Given the description of an element on the screen output the (x, y) to click on. 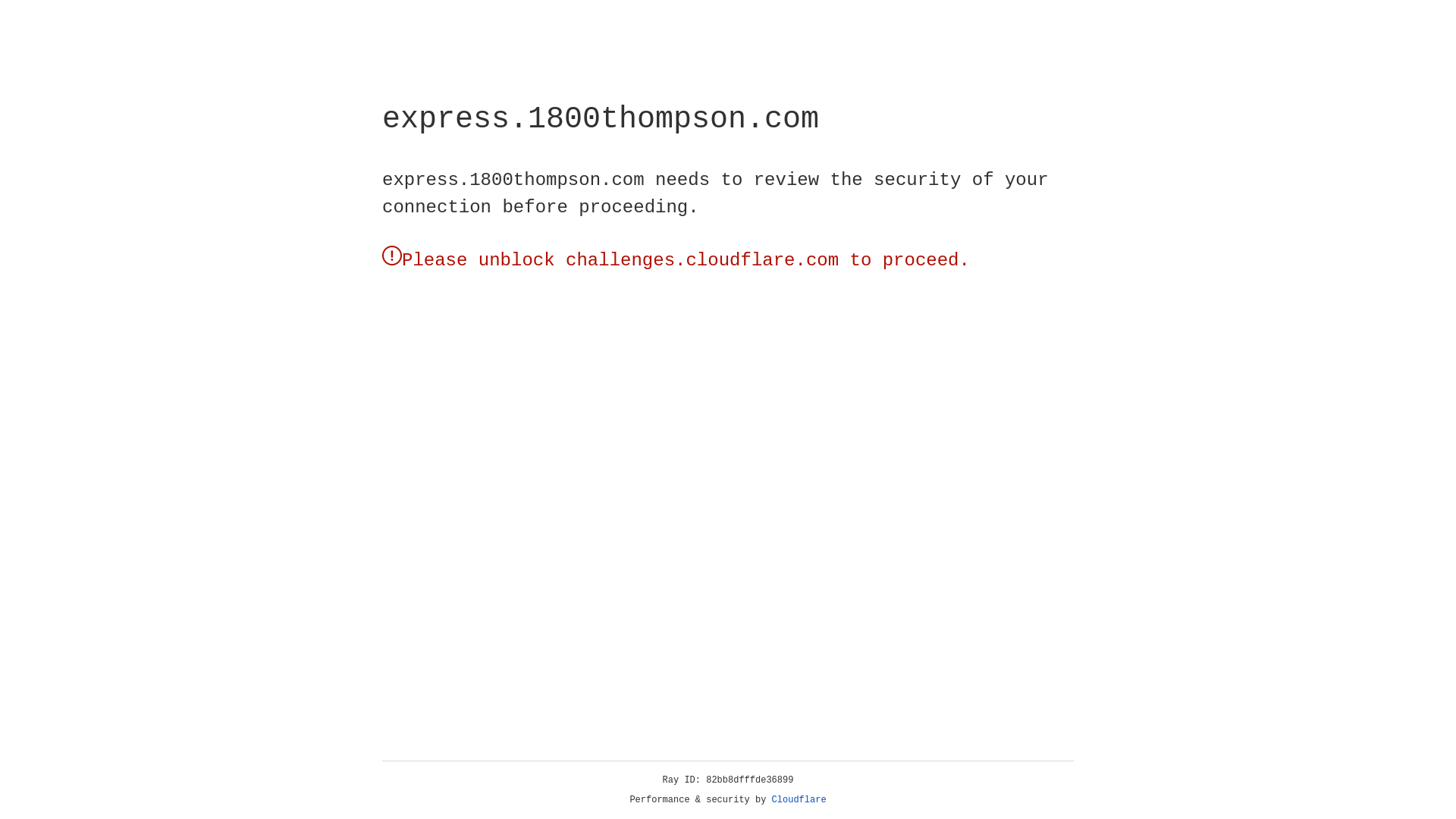
Cloudflare Element type: text (798, 799)
